Given the description of an element on the screen output the (x, y) to click on. 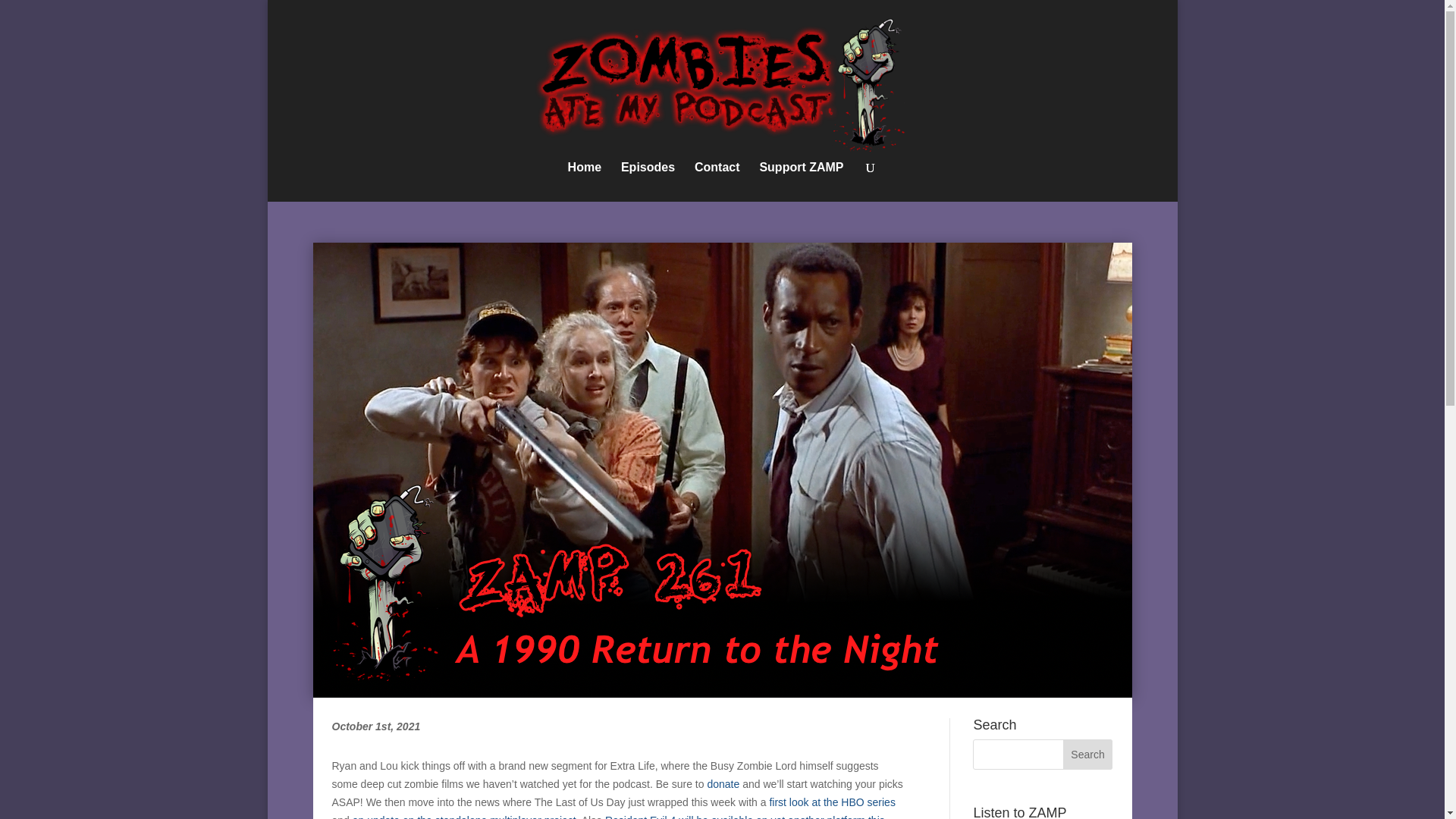
Search (1087, 754)
Search (1087, 754)
Episodes (648, 181)
Support ZAMP (800, 181)
first look at the HBO series (831, 802)
Contact (716, 181)
an update on the standalone multiplayer project (464, 816)
donate (722, 784)
